Given the description of an element on the screen output the (x, y) to click on. 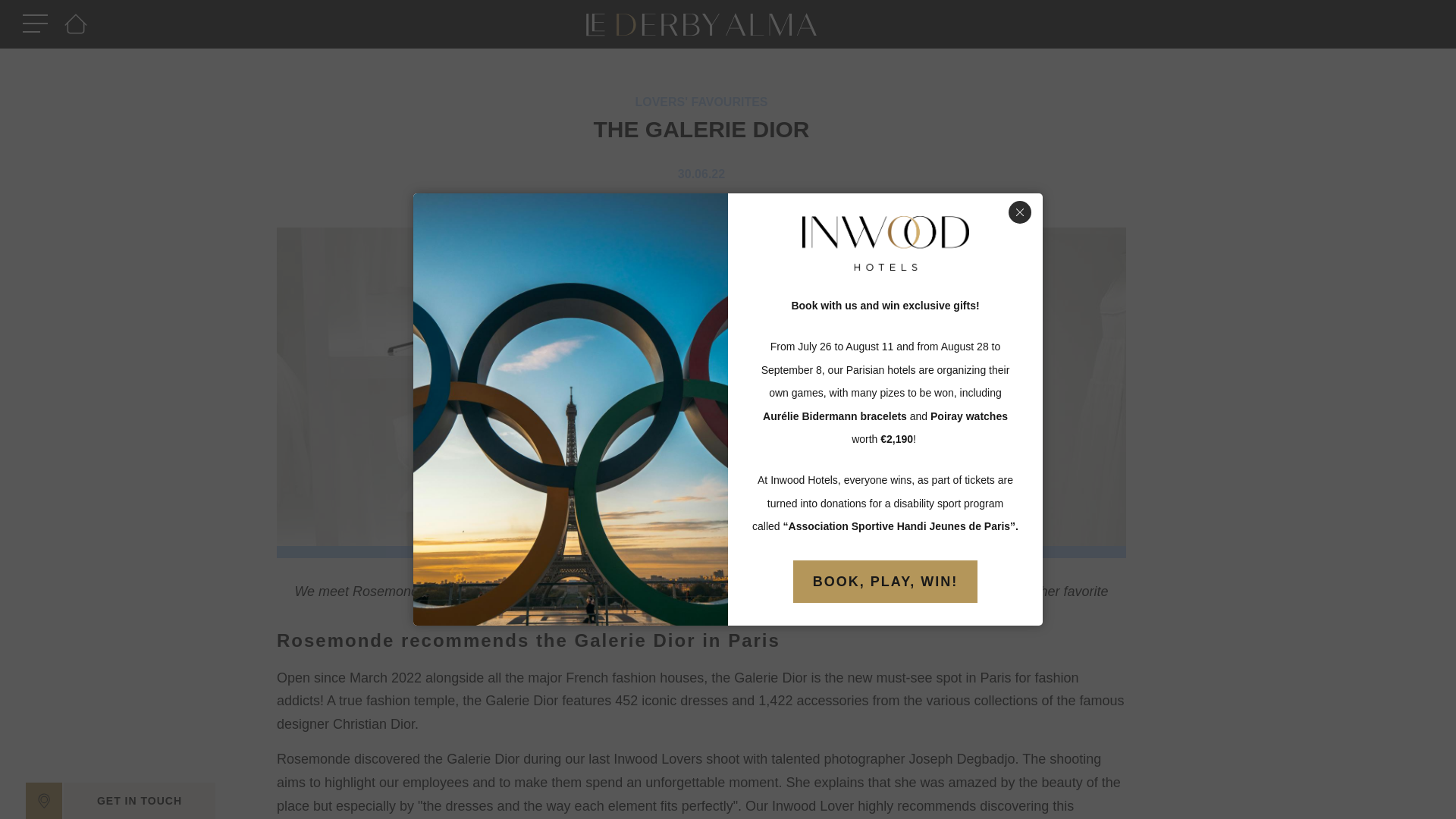
Close (1019, 211)
Joseph Degbadjo (961, 758)
Derby Alma (634, 590)
BOOK, PLAY, WIN! (884, 581)
Galerie Dior (769, 677)
GET IN TOUCH (139, 801)
